Given the description of an element on the screen output the (x, y) to click on. 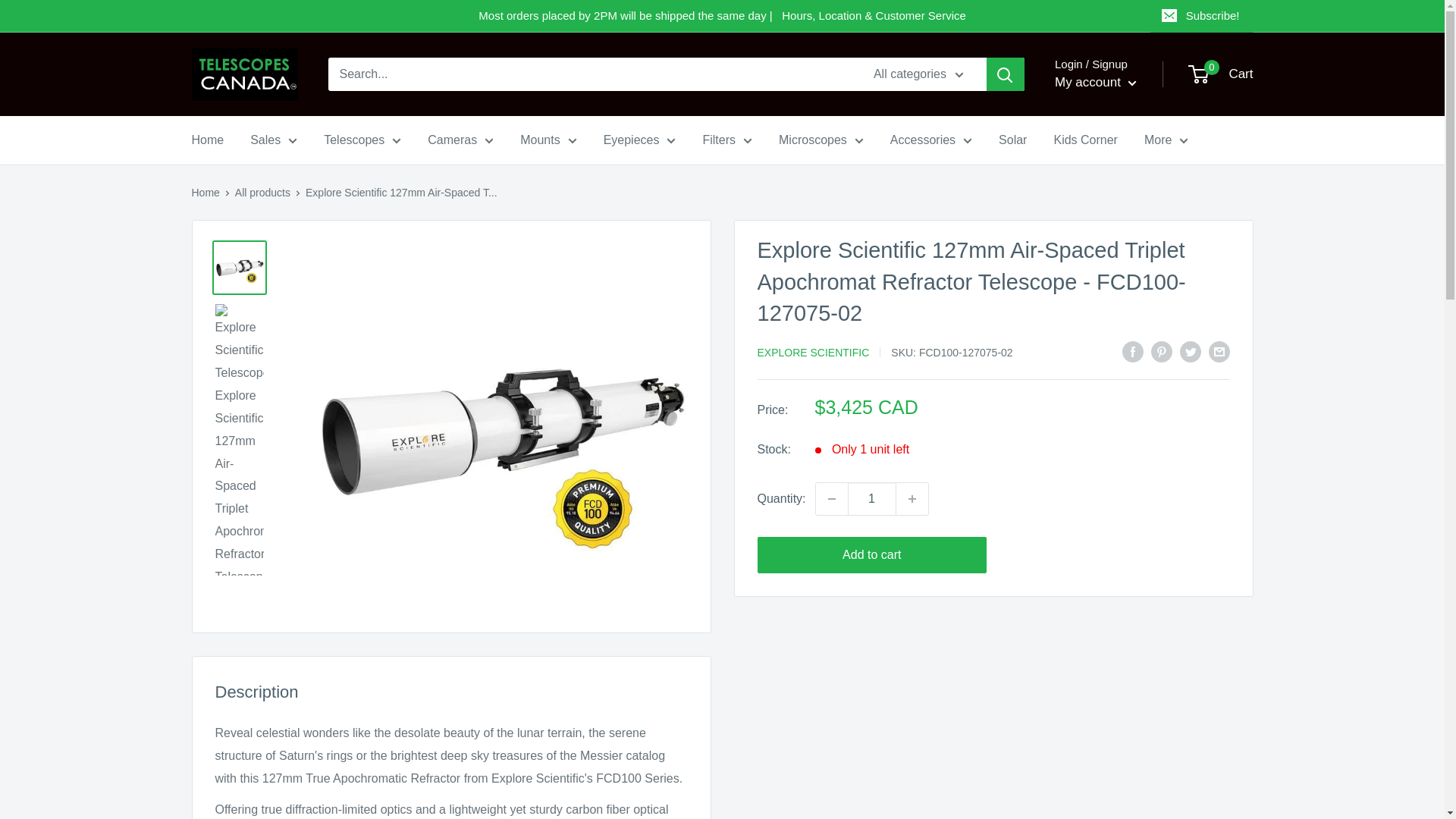
1 (871, 499)
Subscribe! (1201, 15)
Decrease quantity by 1 (831, 499)
Increase quantity by 1 (912, 499)
